Given the description of an element on the screen output the (x, y) to click on. 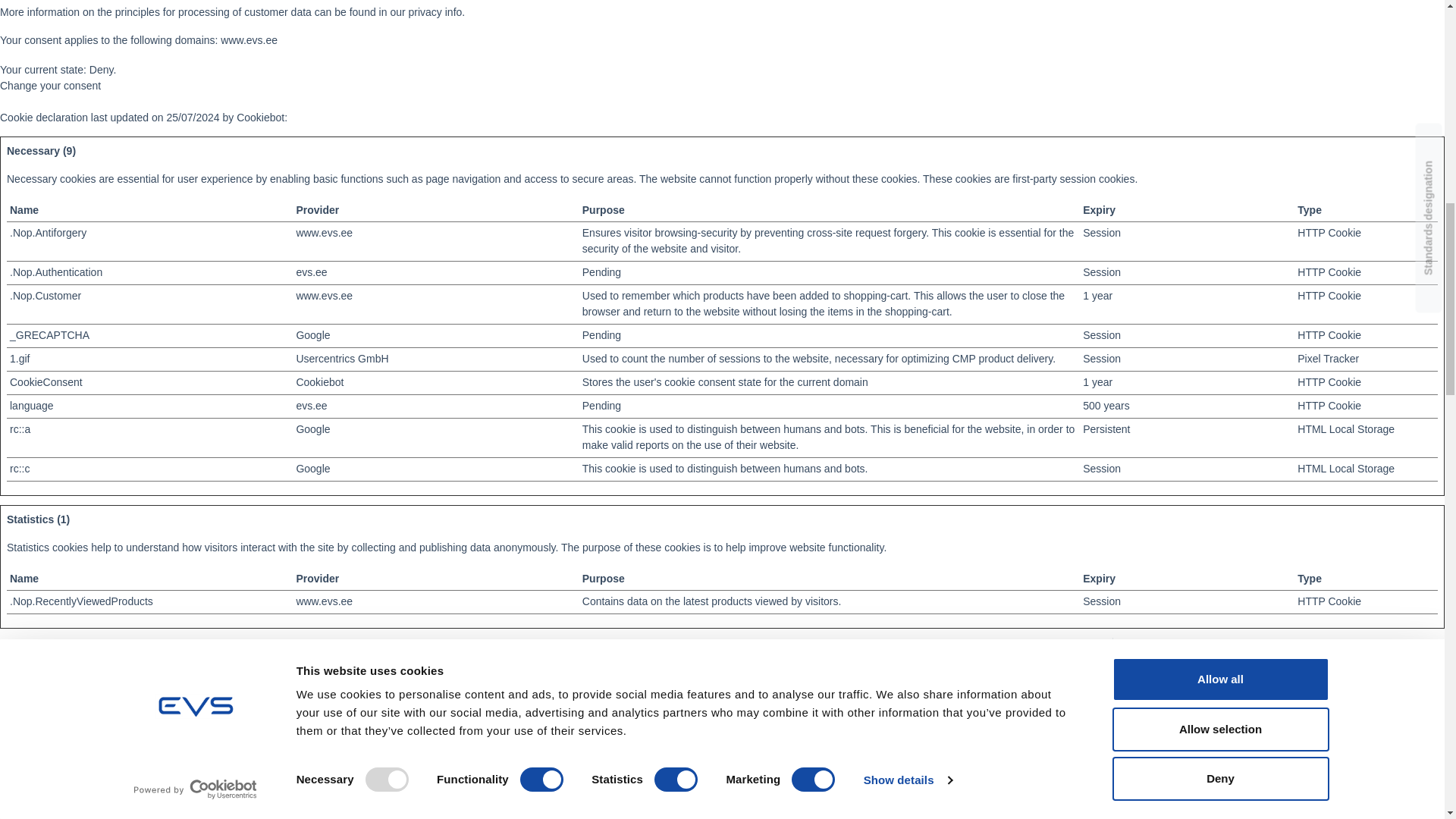
Usercentrics GmbH (341, 358)
Cookiebot (259, 117)
Google's privacy policy (312, 335)
Google's privacy policy (312, 468)
Google (312, 468)
Usercentrics GmbH's privacy policy (341, 358)
Cookiebot's privacy policy (319, 381)
Google (312, 335)
Cookiebot (319, 381)
Cookiebot (259, 117)
privacy info (436, 11)
Change your consent (50, 85)
Google's privacy policy (312, 428)
Google (312, 428)
Shopping cart (1241, 719)
